Given the description of an element on the screen output the (x, y) to click on. 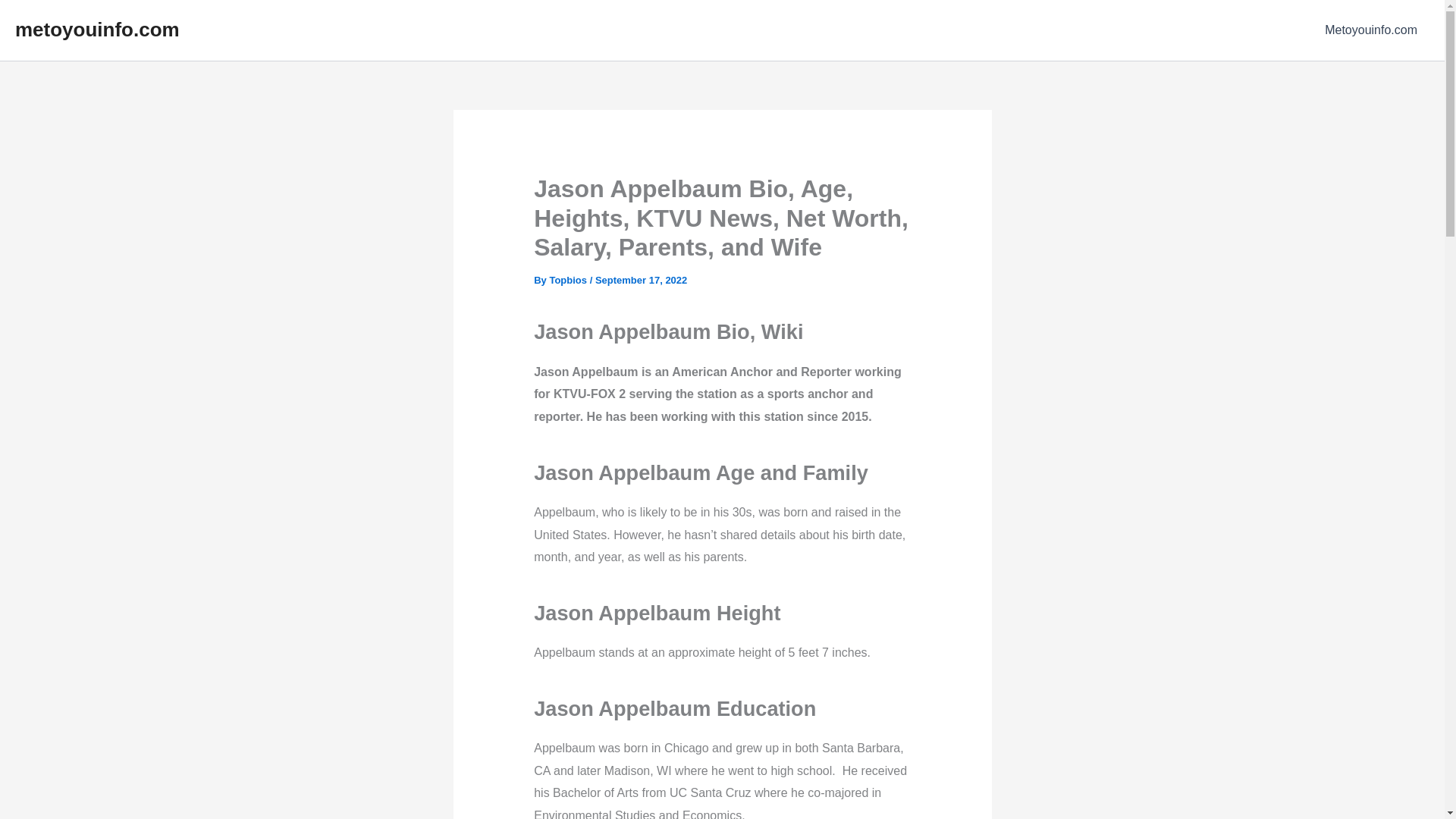
metoyouinfo.com (96, 29)
Metoyouinfo.com (1371, 30)
Topbios (568, 279)
View all posts by Topbios (568, 279)
